Given the description of an element on the screen output the (x, y) to click on. 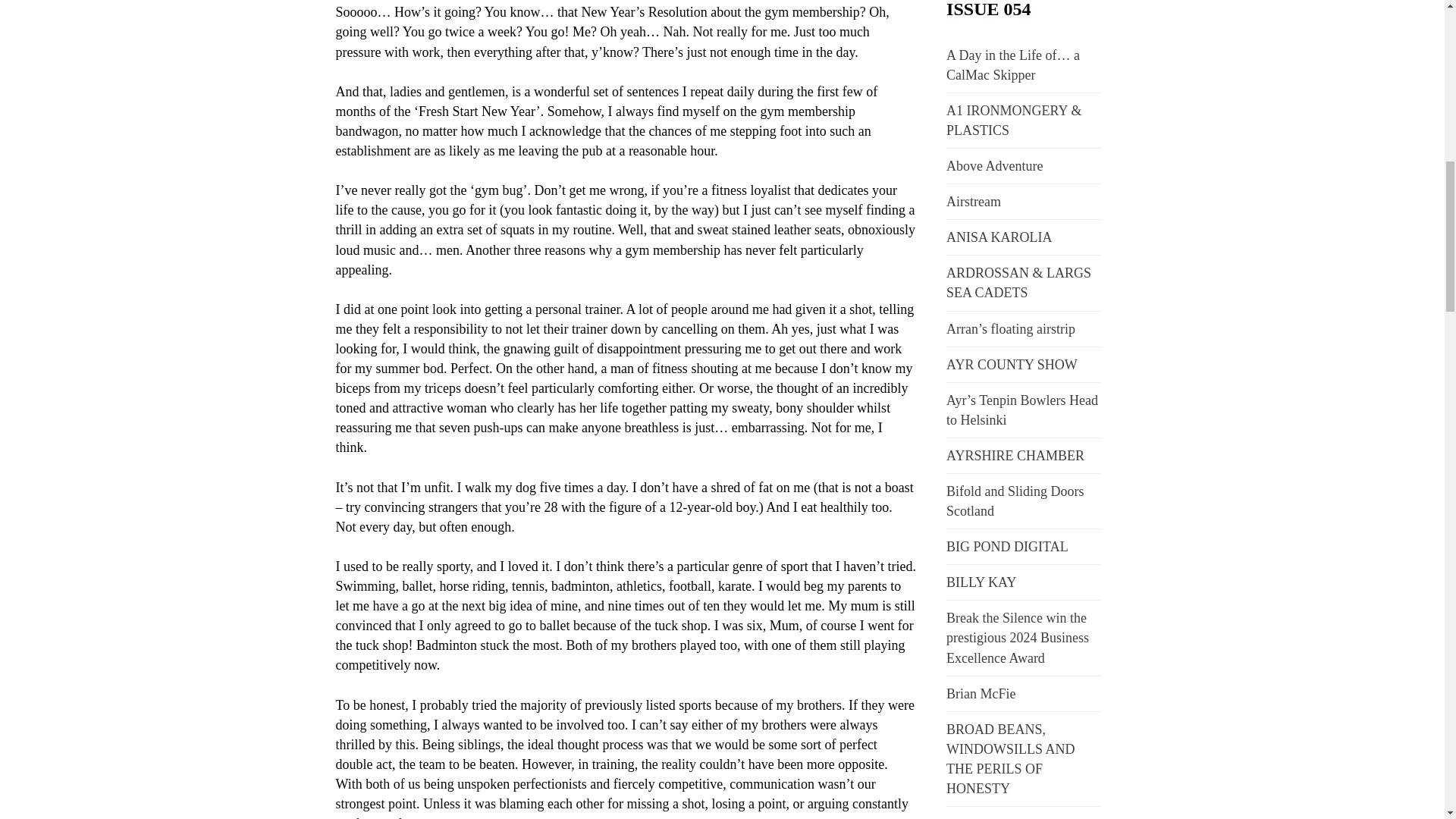
Airstream (973, 201)
Bifold and Sliding Doors Scotland (1015, 501)
ISSUE 054 (988, 9)
AYRSHIRE CHAMBER (1015, 455)
ANISA KAROLIA (999, 237)
BILLY KAY (981, 581)
AYR COUNTY SHOW (1011, 364)
CAROL SMILLIE (997, 817)
Above Adventure (994, 165)
Brian McFie (981, 693)
BIG POND DIGITAL (1007, 546)
BROAD BEANS, WINDOWSILLS AND THE PERILS OF HONESTY (1010, 758)
